Given the description of an element on the screen output the (x, y) to click on. 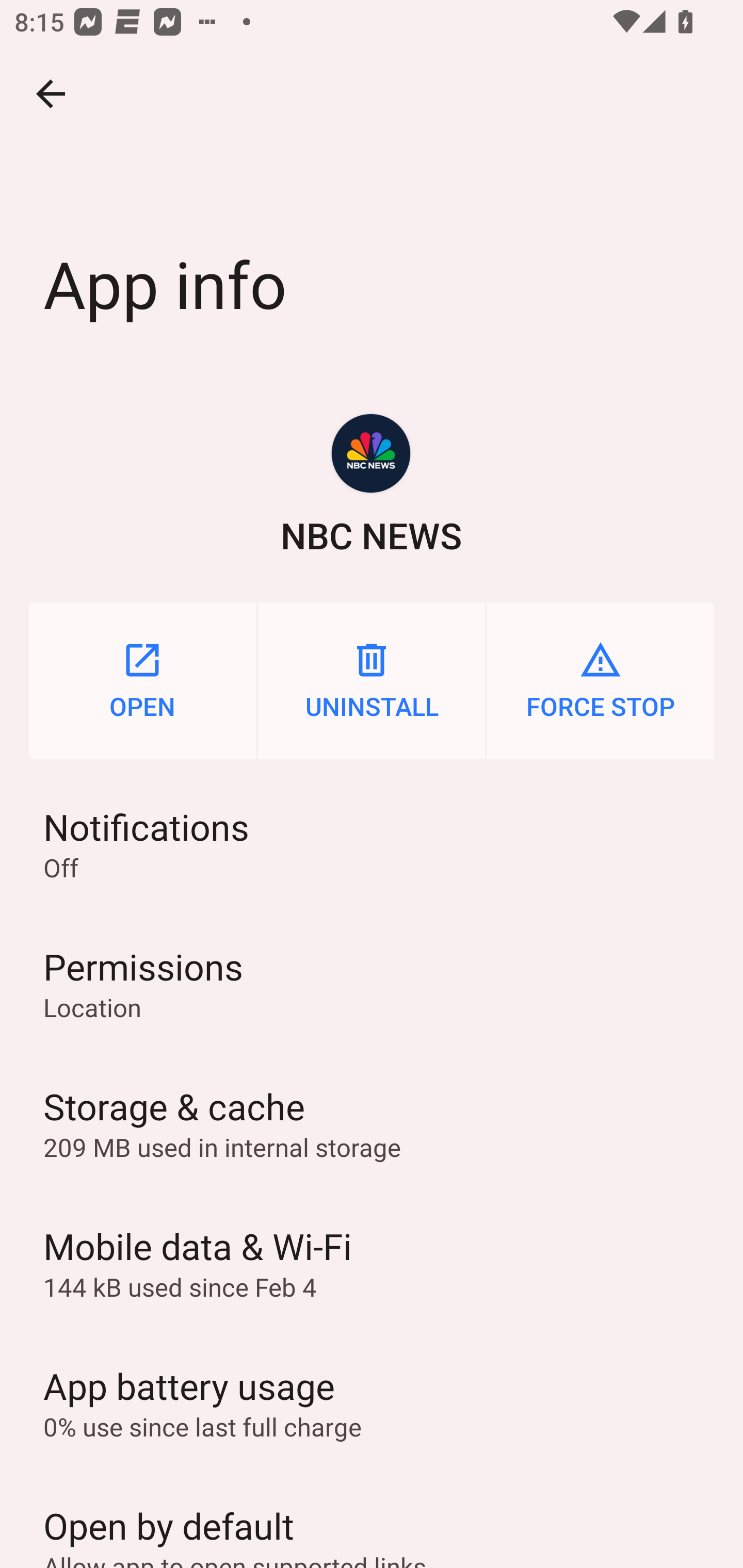
Navigate up (50, 93)
OPEN (141, 680)
UNINSTALL (371, 680)
FORCE STOP (600, 680)
Notifications Off (371, 843)
Permissions Location (371, 983)
Storage & cache 209 MB used in internal storage (371, 1123)
Mobile data & Wi‑Fi 144 kB used since Feb 4 (371, 1262)
App battery usage 0% use since last full charge (371, 1402)
Open by default Allow app to open supported links (371, 1520)
